Given the description of an element on the screen output the (x, y) to click on. 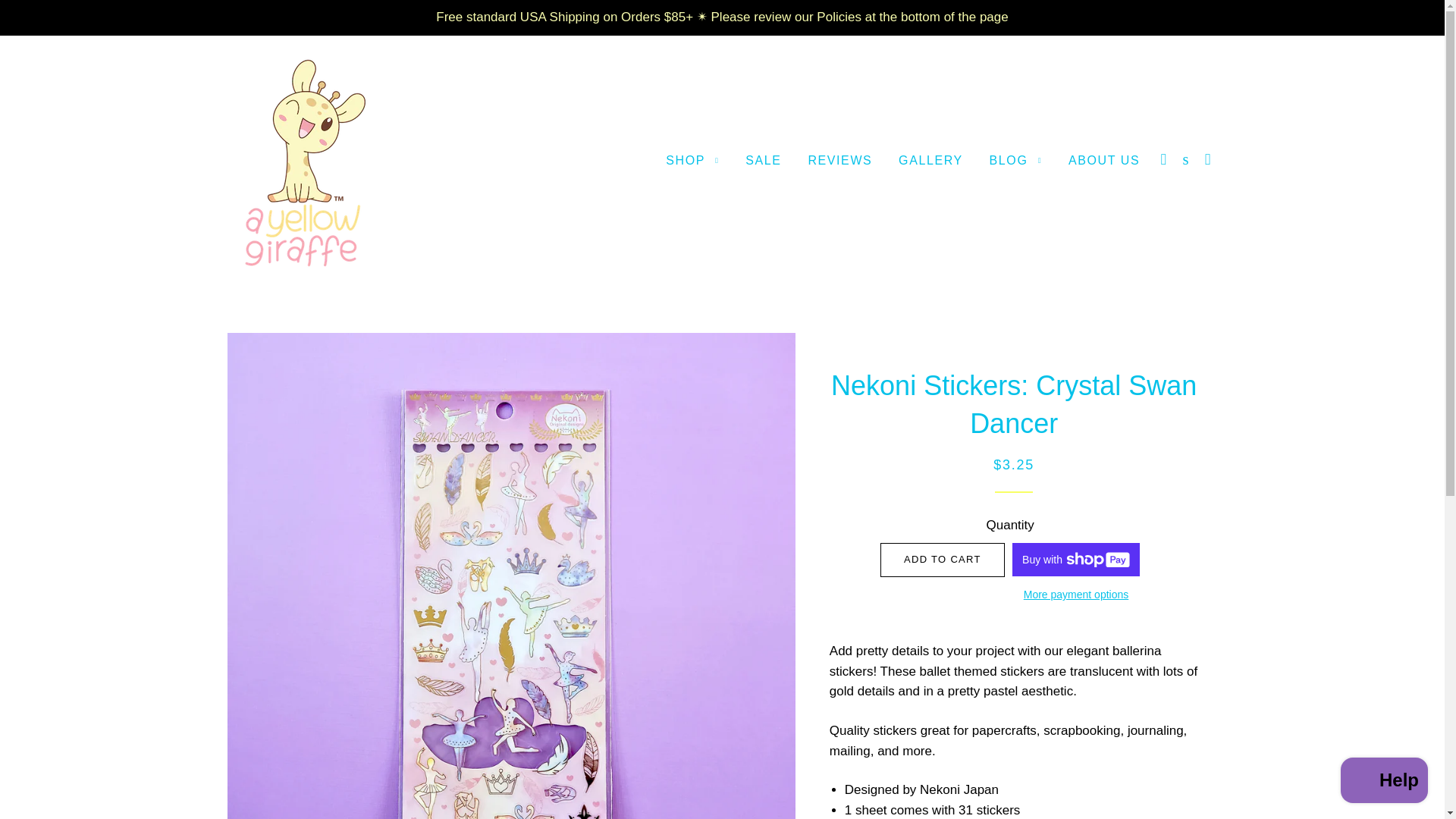
Shopify online store chat (1384, 781)
